Given the description of an element on the screen output the (x, y) to click on. 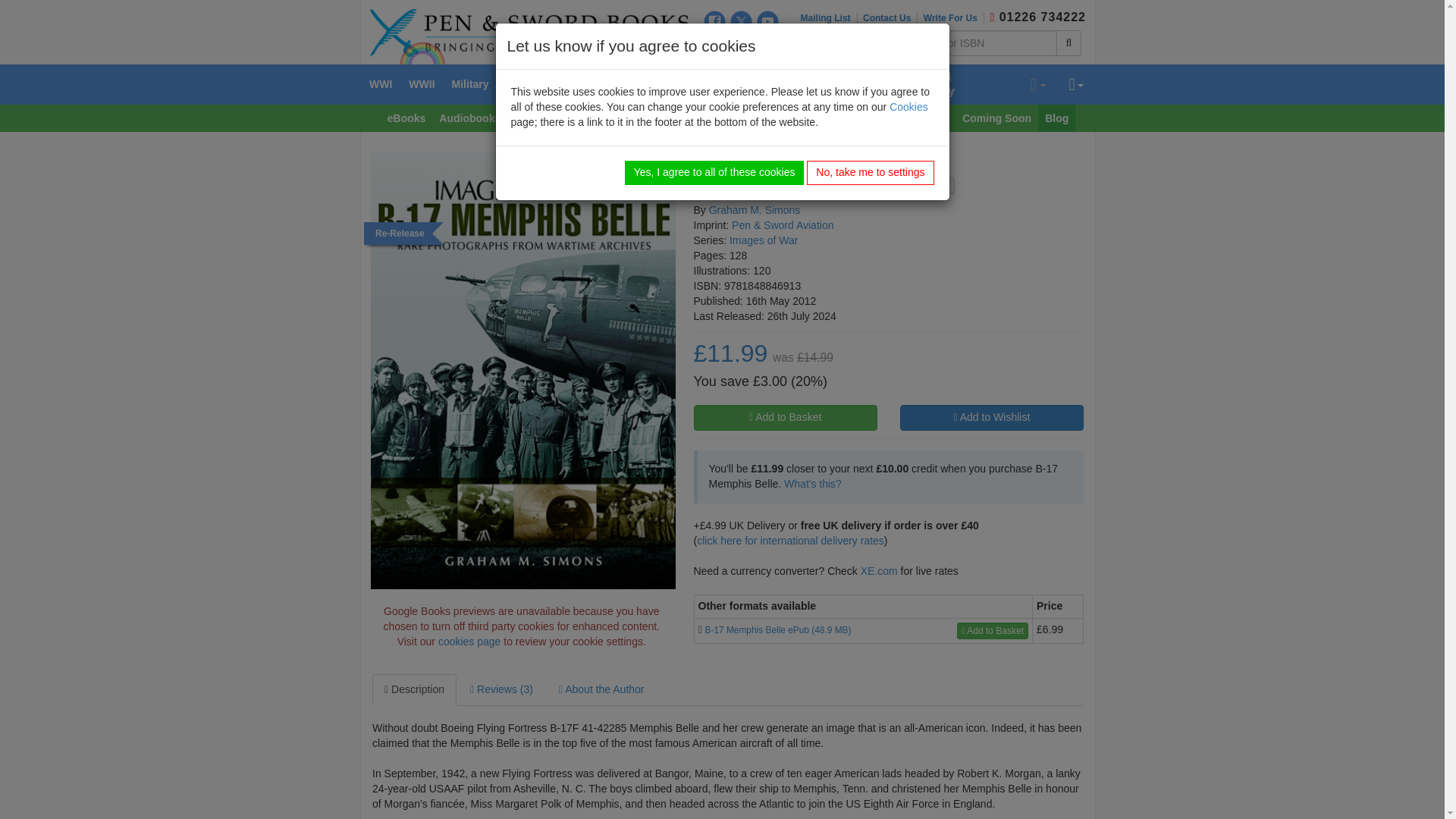
Contact Us (890, 18)
Your basket is empty (1037, 84)
Images of War (763, 240)
X (741, 21)
NetGalley (767, 45)
Mailing List (828, 18)
YouTube (767, 21)
Write For Us (953, 18)
Facebook (714, 21)
TikTok (741, 45)
Instagram (714, 45)
